Given the description of an element on the screen output the (x, y) to click on. 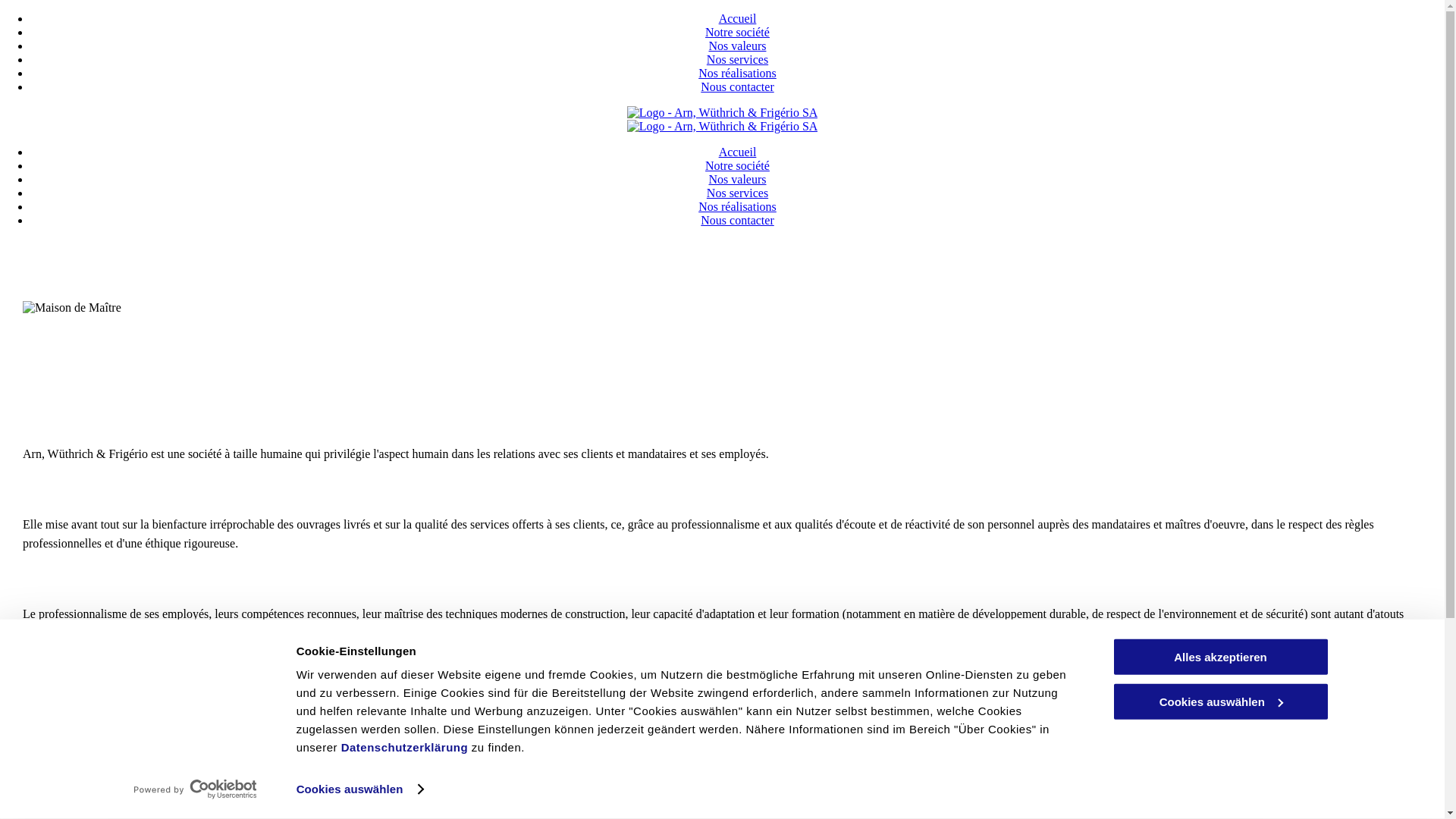
Nos services Element type: text (737, 59)
Nous contacter Element type: text (736, 86)
Accueil Element type: text (737, 151)
Nous contacter Element type: text (736, 219)
Nos services Element type: text (737, 192)
Alles akzeptieren Element type: text (1219, 656)
Accueil Element type: text (737, 18)
Nos valeurs Element type: text (736, 45)
Nos valeurs Element type: text (736, 178)
